Given the description of an element on the screen output the (x, y) to click on. 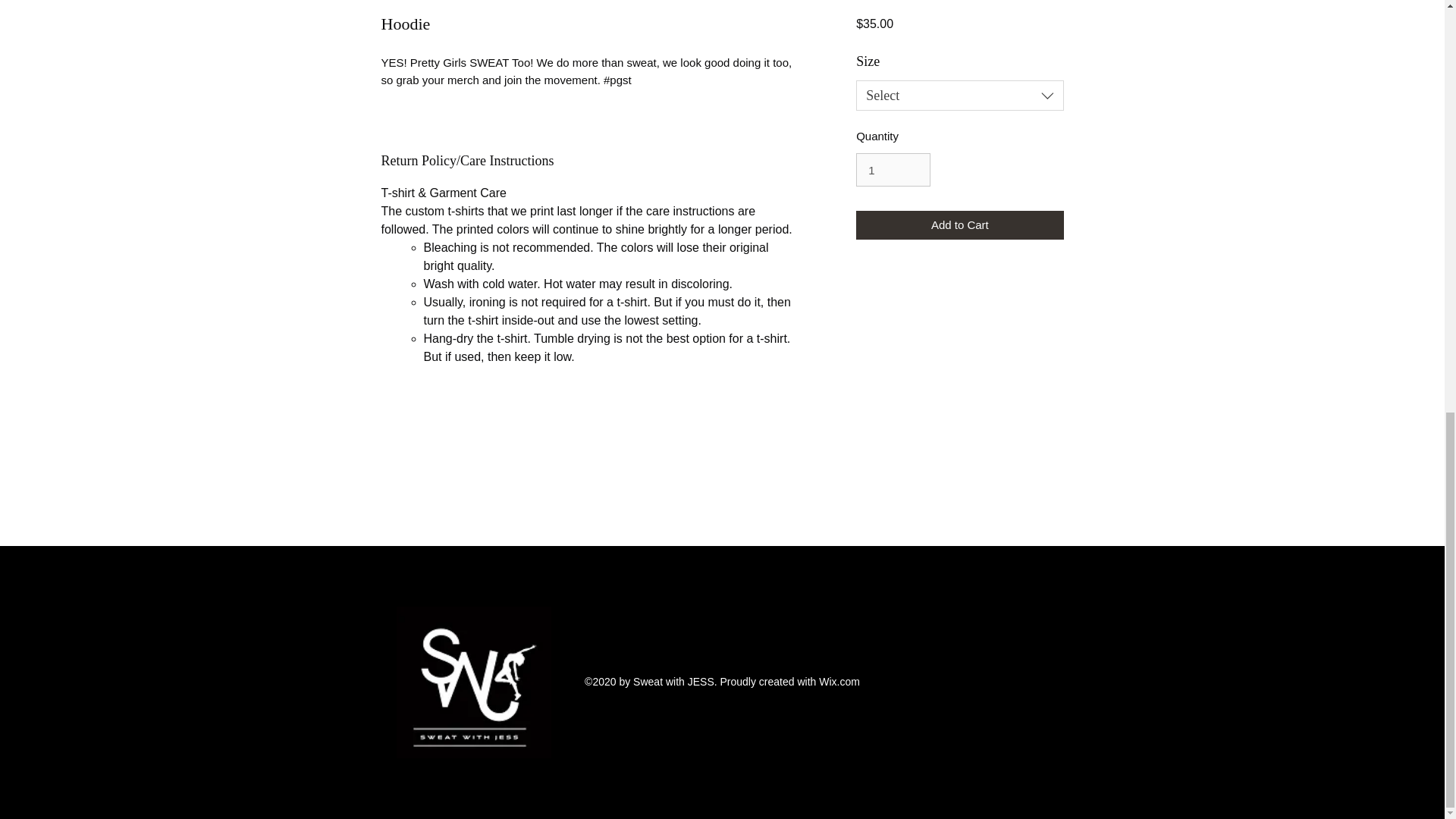
Add to Cart (959, 225)
Select (959, 95)
1 (893, 169)
